Given the description of an element on the screen output the (x, y) to click on. 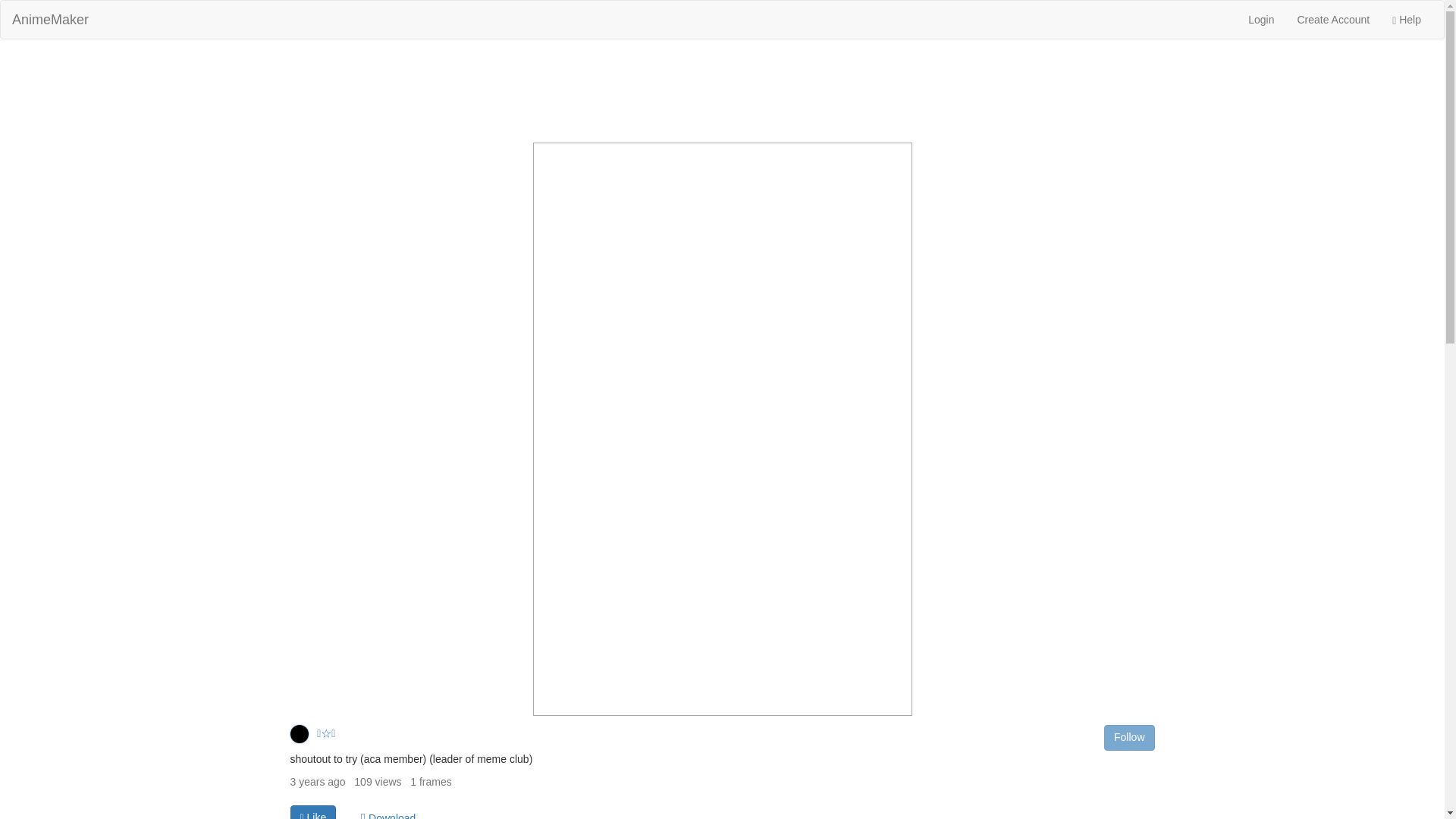
Create Account (1332, 19)
Download (388, 812)
AnimeMaker (50, 19)
Follow (1128, 737)
Follow (1128, 737)
Login (1260, 19)
Help (1406, 19)
